Given the description of an element on the screen output the (x, y) to click on. 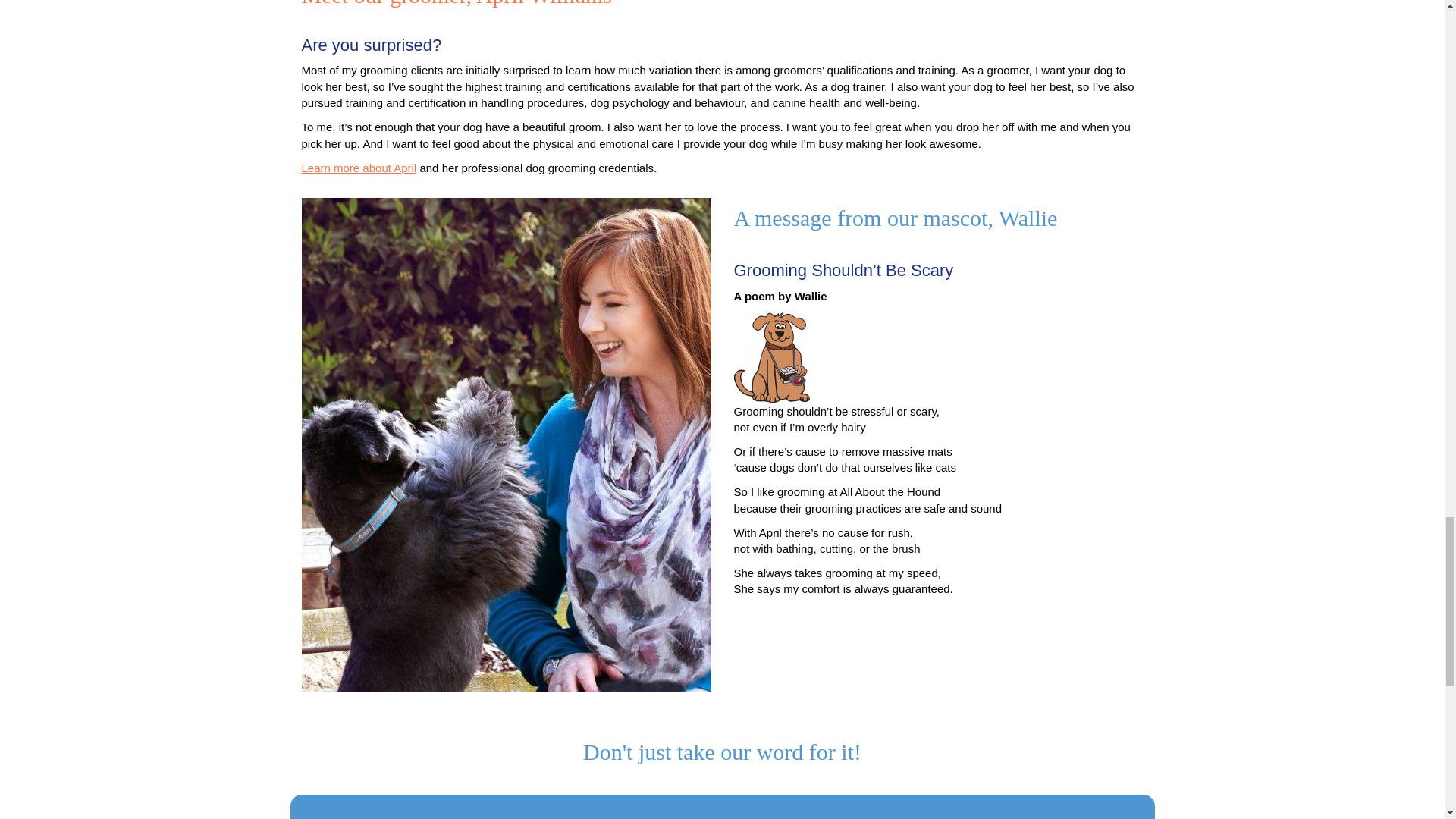
Learn more about April (358, 167)
